Given the description of an element on the screen output the (x, y) to click on. 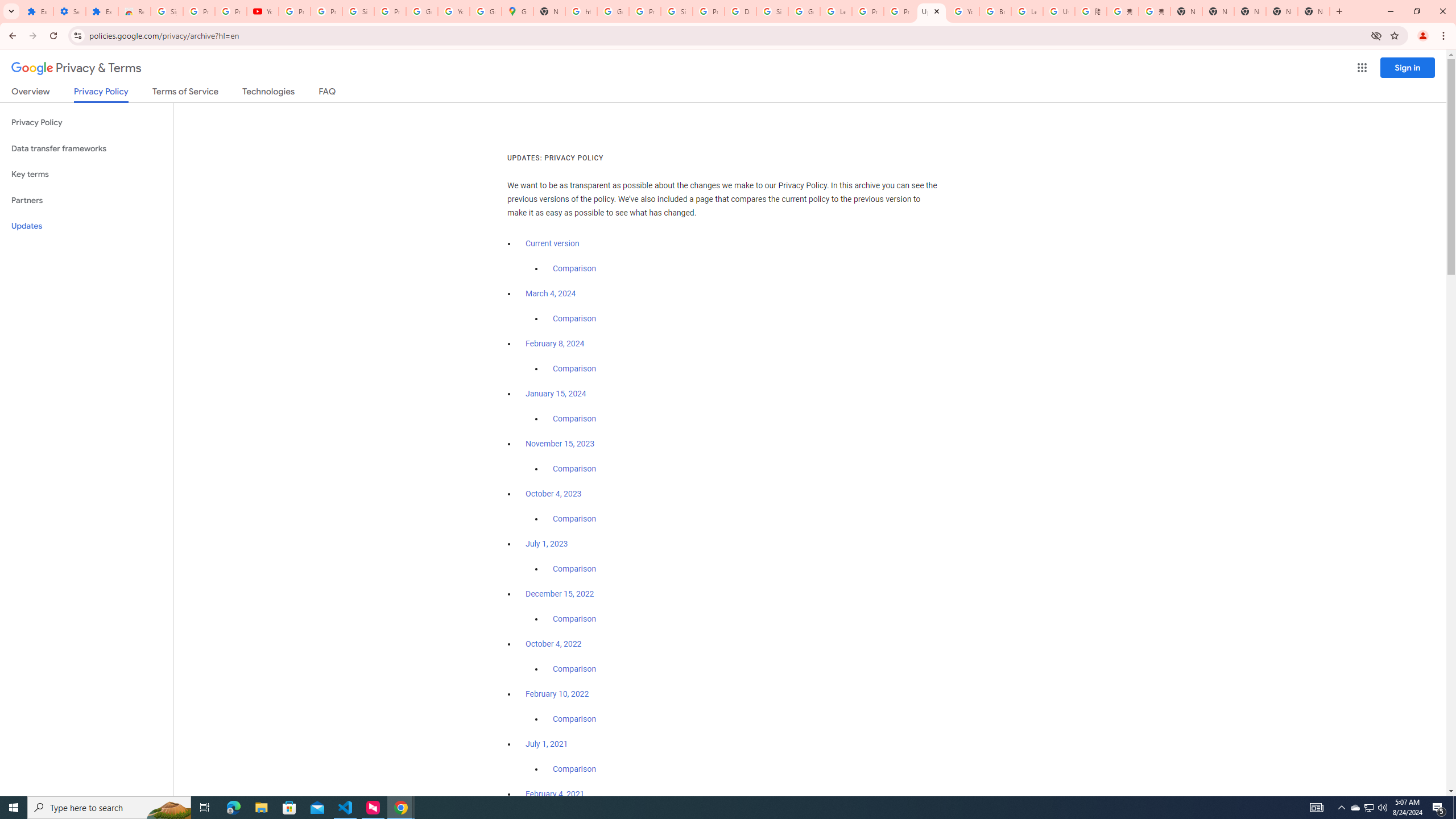
October 4, 2023 (553, 493)
July 1, 2021 (546, 743)
Sign in - Google Accounts (358, 11)
Privacy Help Center - Policies Help (899, 11)
February 4, 2021 (555, 793)
YouTube (262, 11)
January 15, 2024 (555, 394)
Current version (552, 243)
